Given the description of an element on the screen output the (x, y) to click on. 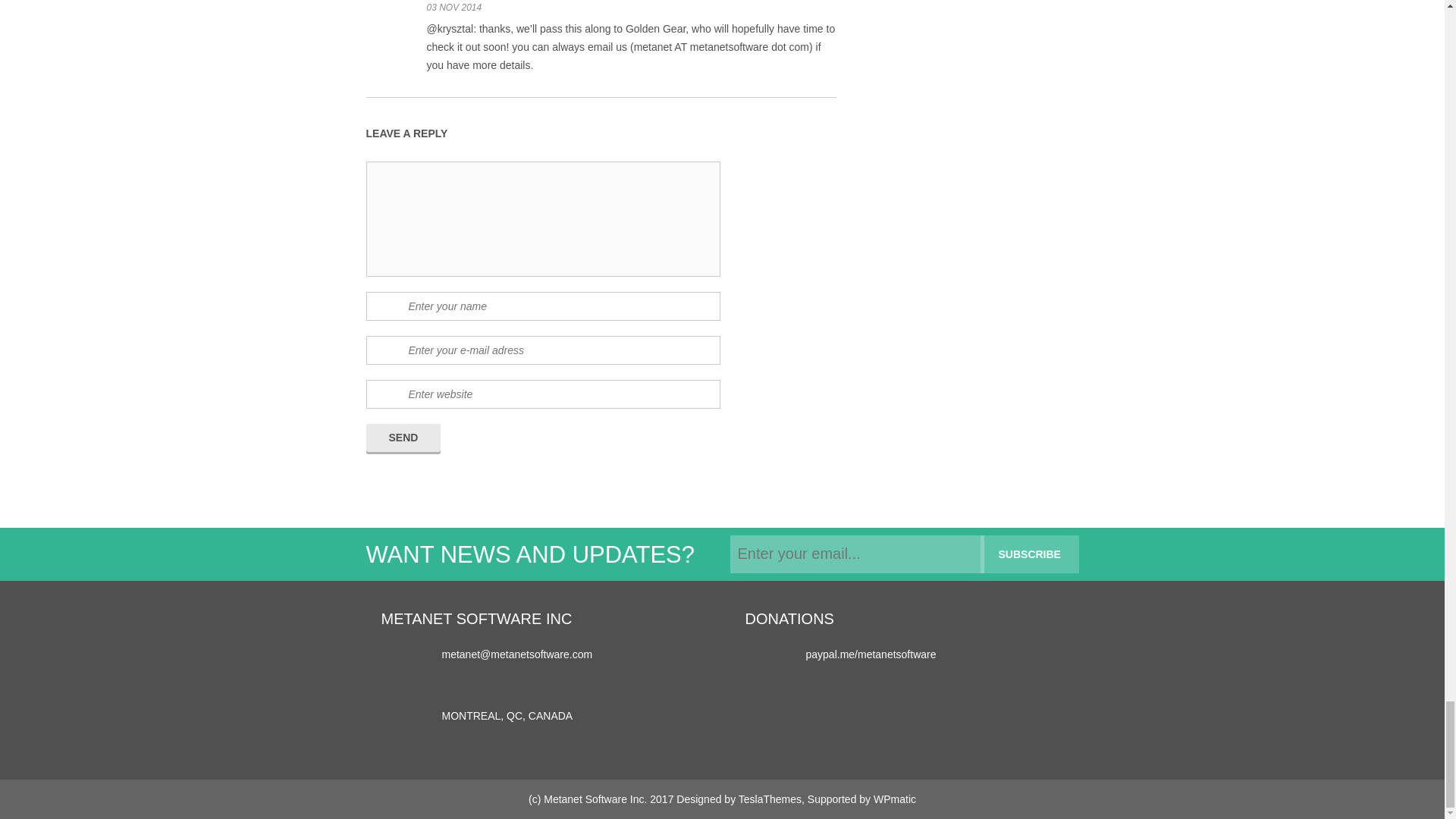
Send (403, 438)
SUBSCRIBE (1028, 554)
Send (403, 438)
